Given the description of an element on the screen output the (x, y) to click on. 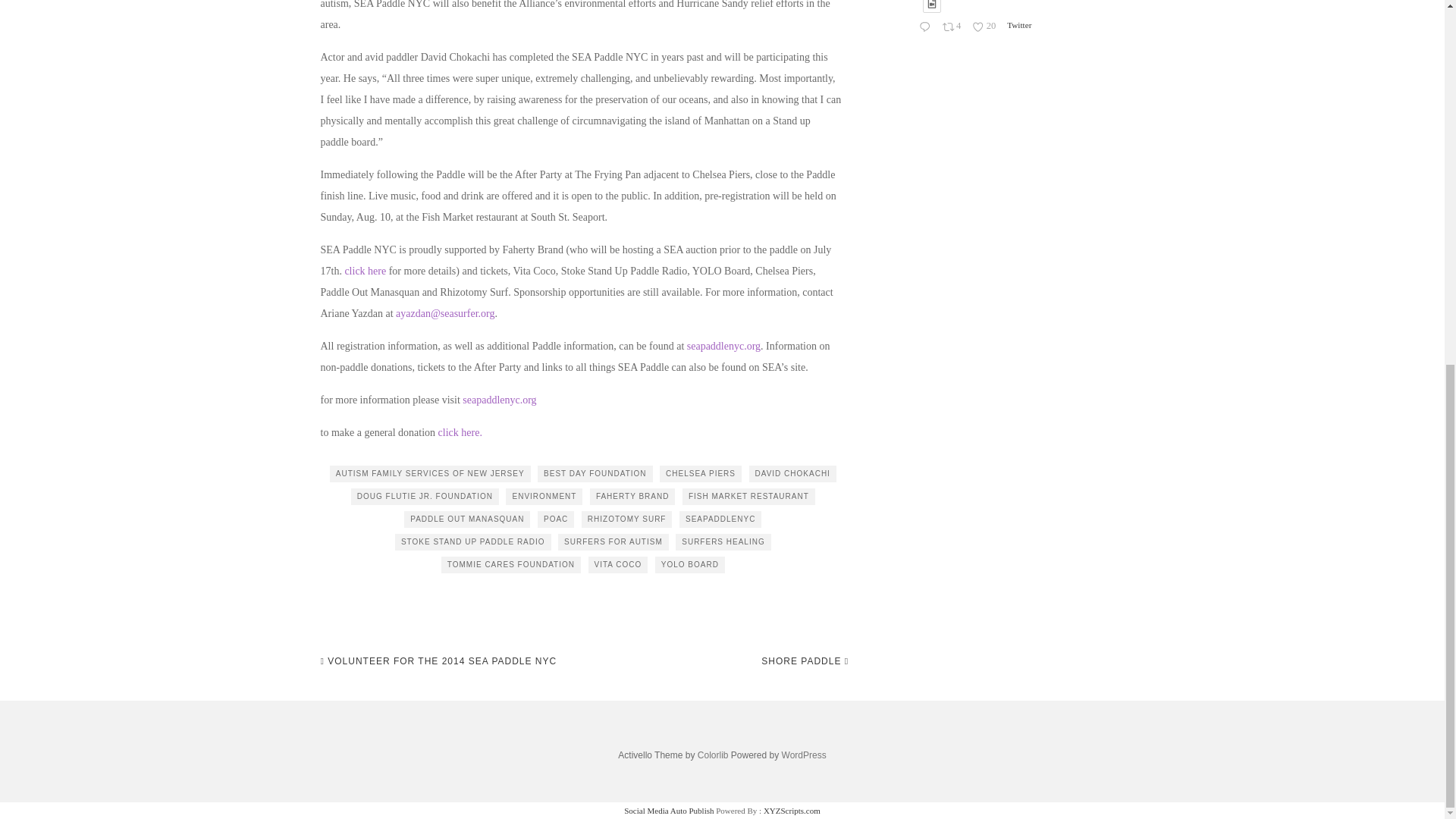
click here (364, 270)
CHELSEA PIERS (700, 474)
DAVID CHOKACHI (792, 474)
Social Media Auto Publish (668, 809)
ENVIRONMENT (543, 496)
seapaddlenyc.org (723, 346)
PADDLE OUT MANASQUAN (466, 519)
FAHERTY BRAND (632, 496)
BEST DAY FOUNDATION (594, 474)
RHIZOTOMY SURF (626, 519)
